Given the description of an element on the screen output the (x, y) to click on. 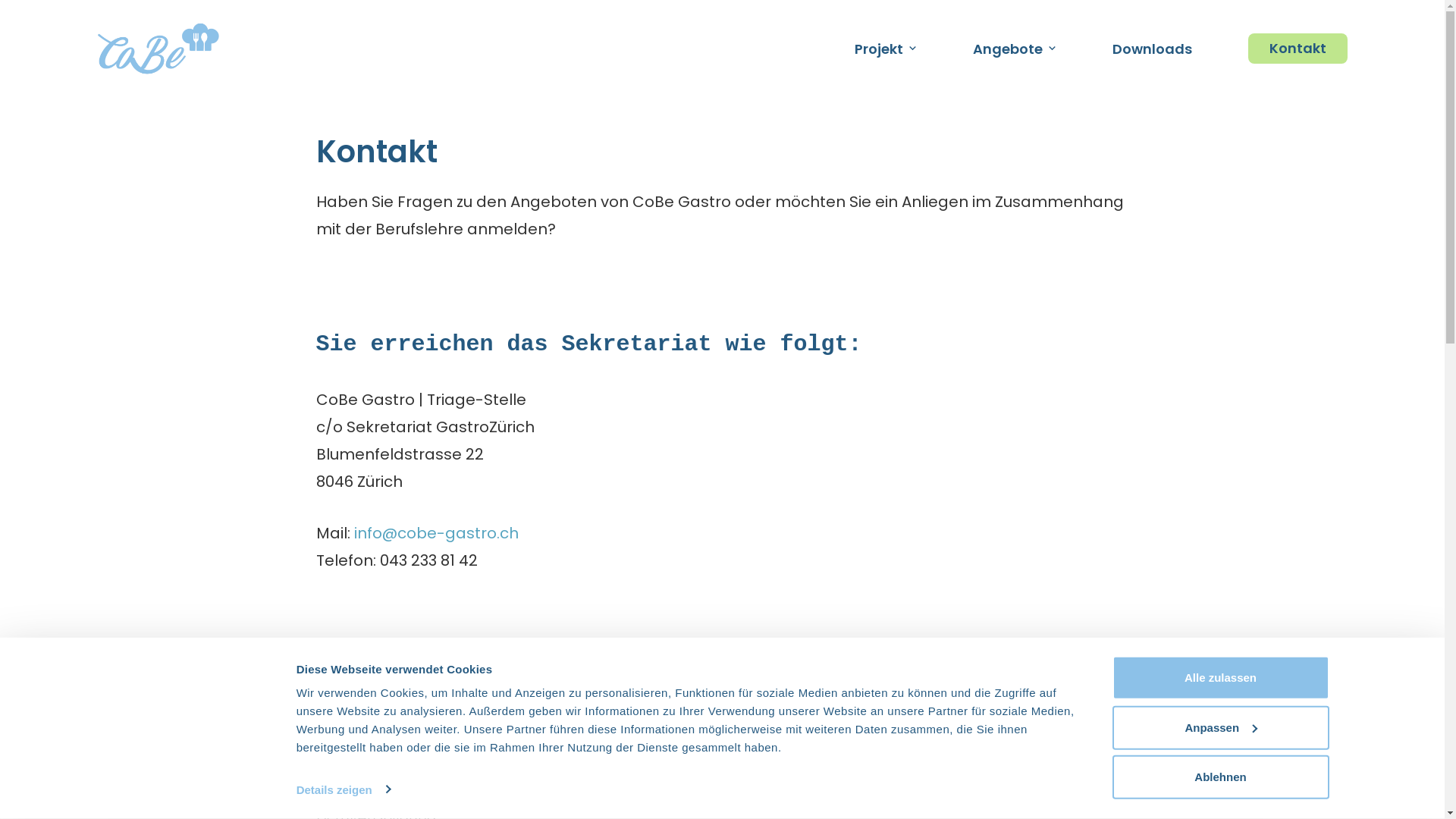
Angebote Element type: text (1014, 48)
Anpassen Element type: text (1219, 727)
Kontakt Element type: text (1297, 48)
Projekt Element type: text (885, 48)
Ablehnen Element type: text (1219, 777)
Alle zulassen Element type: text (1219, 677)
Details zeigen Element type: text (342, 789)
info@cobe-gastro.ch Element type: text (435, 526)
Downloads Element type: text (1151, 48)
